Given the description of an element on the screen output the (x, y) to click on. 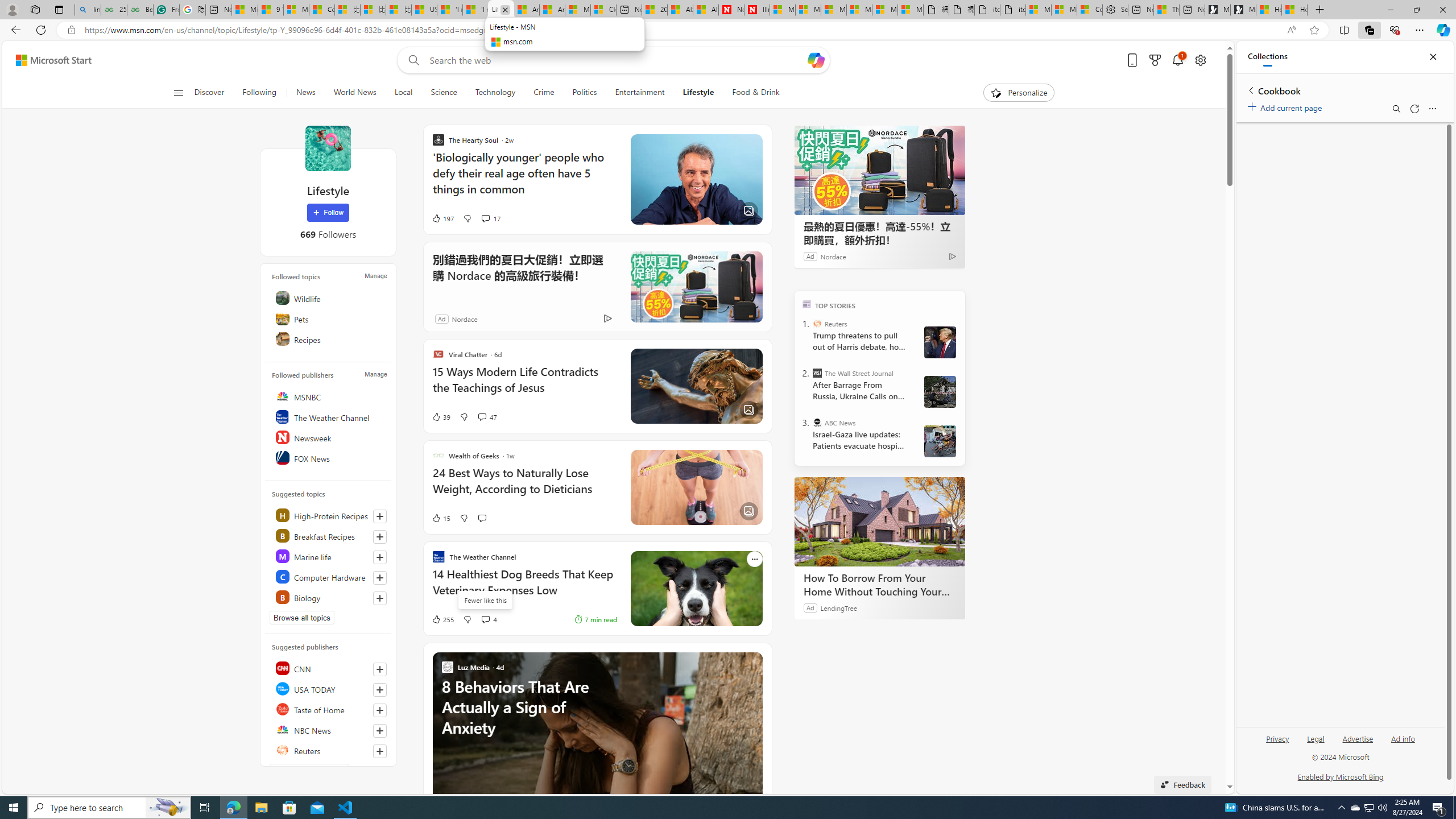
How To Borrow From Your Home Without Touching Your Mortgage (879, 584)
Privacy (1278, 738)
255 Like (442, 619)
Legal (1315, 738)
Following (258, 92)
The Weather Channel (328, 416)
Follow this topic (379, 597)
Free AI Writing Assistance for Students | Grammarly (166, 9)
Lifestyle - MSN (500, 9)
Skip to footer (46, 59)
15 Ways Modern Life Contradicts the Teachings of Jesus (524, 385)
